Given the description of an element on the screen output the (x, y) to click on. 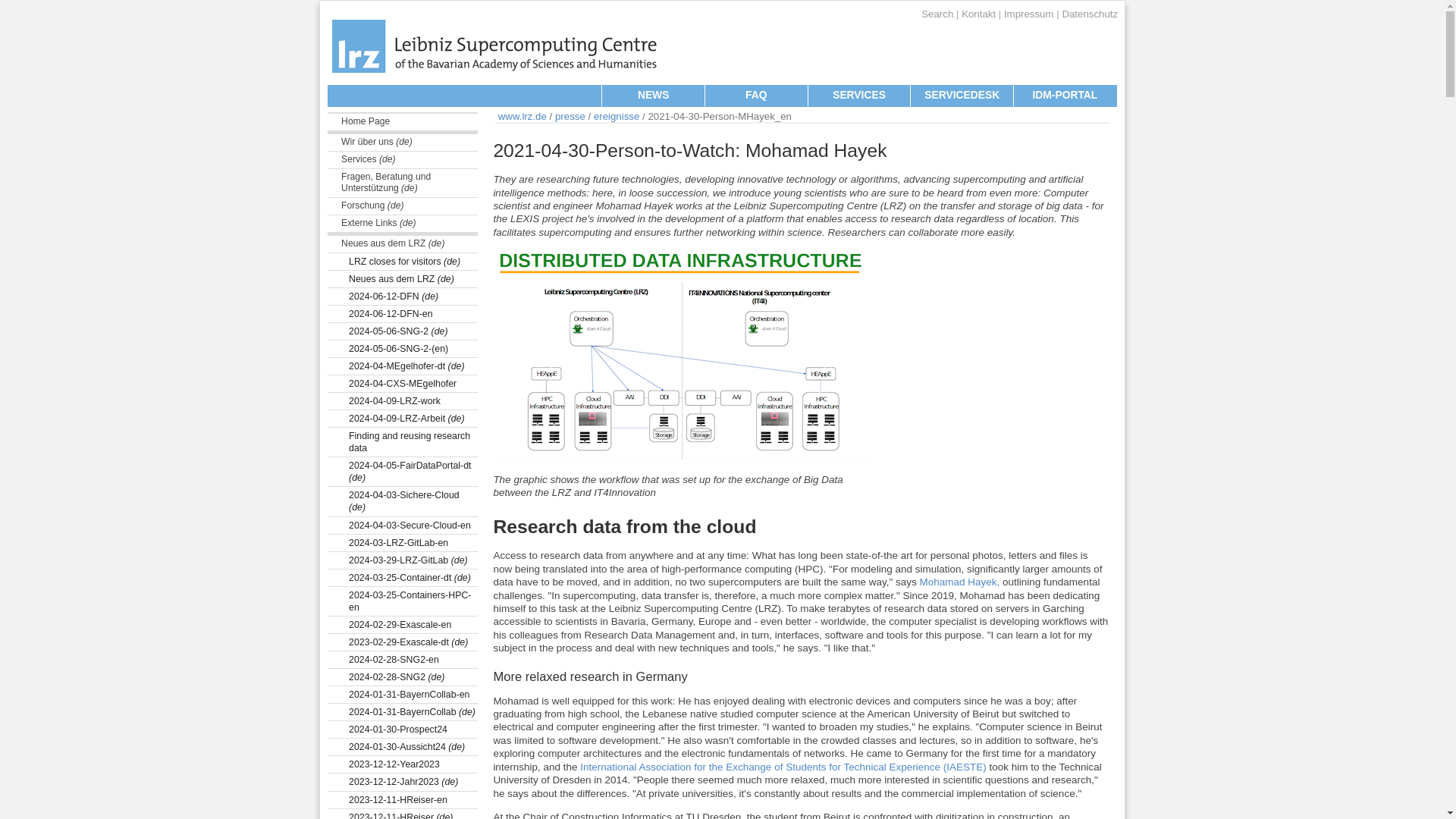
Search (937, 13)
2024-03-LRZ-GitLab-en (402, 543)
2024-04-03-Secure-Cloud-en (402, 525)
2024-06-12-DFN-en (402, 313)
Finding and reusing research data (402, 442)
Home Page (402, 122)
IDM-PORTAL (1064, 95)
SERVICES (859, 95)
Kontakt (979, 13)
2024-04-09-LRZ-work (402, 401)
NEWS (652, 95)
Leibniz-Rechenzentrum (493, 60)
Datenschutz (1089, 13)
Impressum (1029, 13)
SERVICEDESK (961, 95)
